Given the description of an element on the screen output the (x, y) to click on. 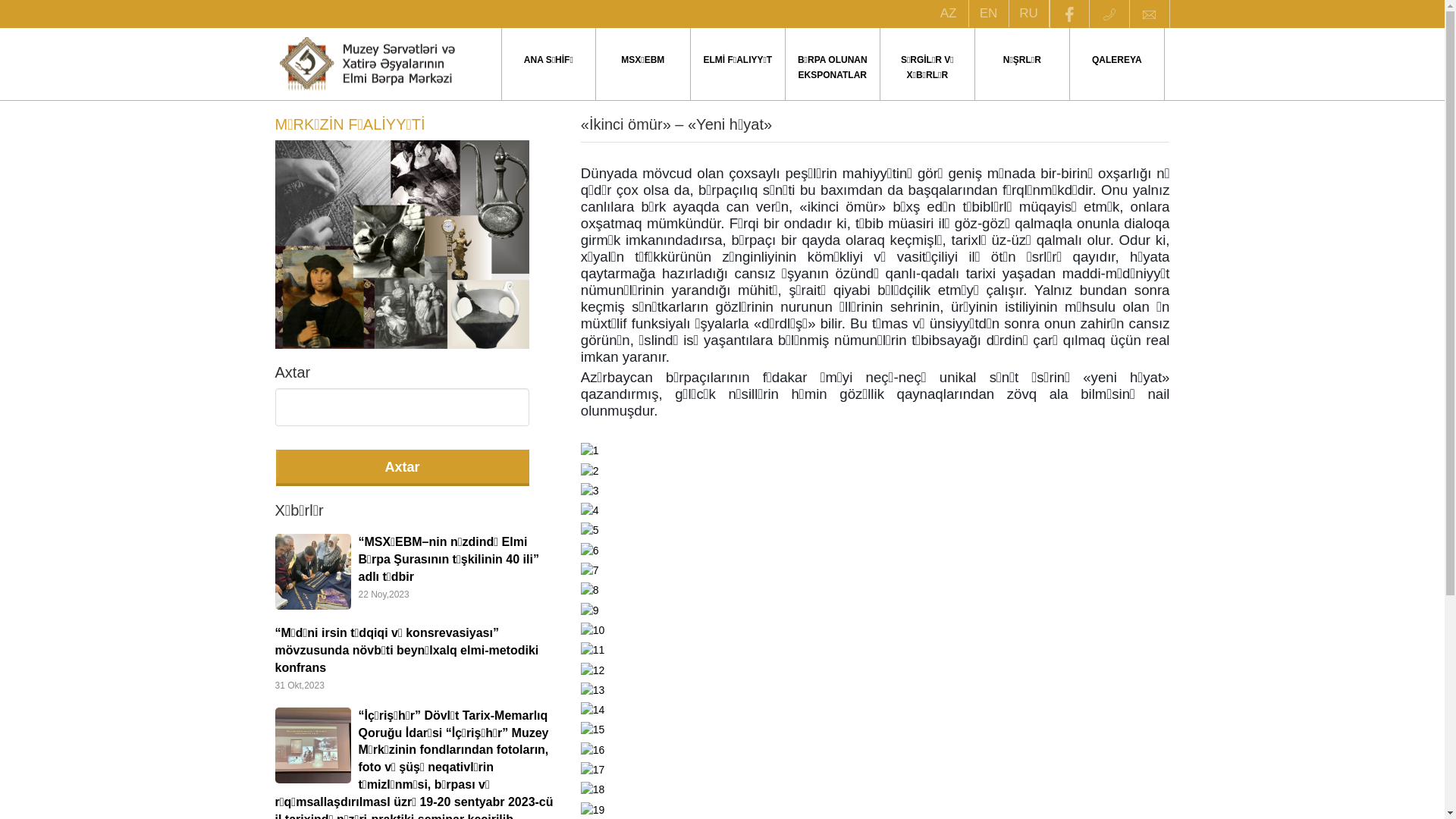
QALEREYA Element type: text (1117, 59)
AZ Element type: text (948, 13)
RU Element type: text (1028, 13)
Axtar Element type: text (401, 467)
EN Element type: text (989, 13)
